Given the description of an element on the screen output the (x, y) to click on. 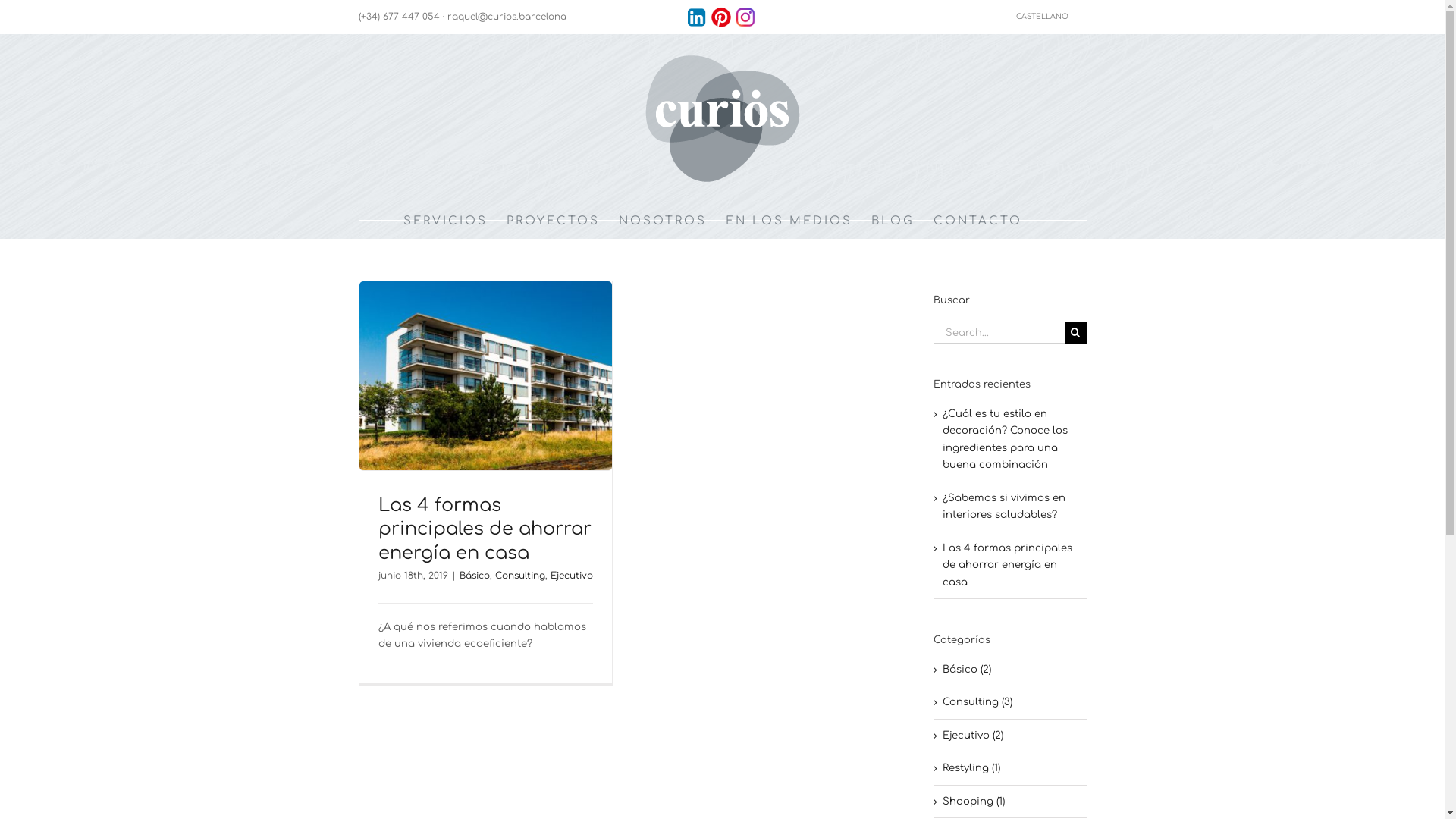
Consulting Element type: text (519, 575)
EN LOS MEDIOS Element type: text (788, 220)
Restyling (1) Element type: text (1010, 767)
CONTACTO Element type: text (977, 220)
CASTELLANO Element type: text (1051, 16)
PROYECTOS Element type: text (552, 220)
Consulting (3) Element type: text (1010, 701)
raquel@curios.barcelona Element type: text (506, 16)
BLOG Element type: text (892, 220)
SERVICIOS Element type: text (445, 220)
Ejecutivo Element type: text (571, 575)
Ejecutivo (2) Element type: text (1010, 735)
NOSOTROS Element type: text (662, 220)
Shooping (1) Element type: text (1010, 801)
